Given the description of an element on the screen output the (x, y) to click on. 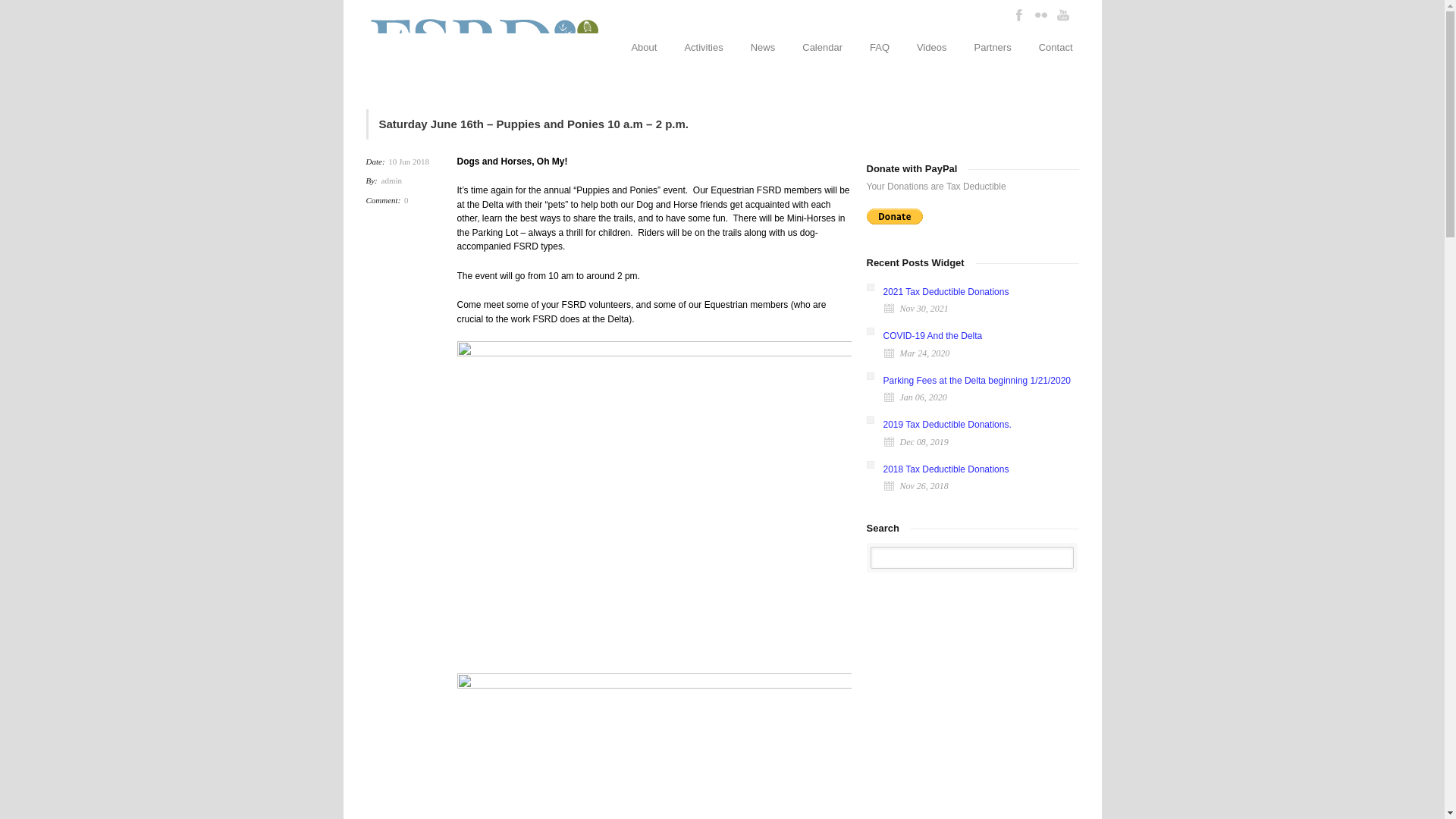
Partners (992, 47)
0 (406, 199)
About (643, 47)
FAQ (879, 47)
Calendar (822, 47)
Videos (931, 47)
Contact (1055, 47)
admin (392, 180)
News (762, 47)
Activities (702, 47)
